Given the description of an element on the screen output the (x, y) to click on. 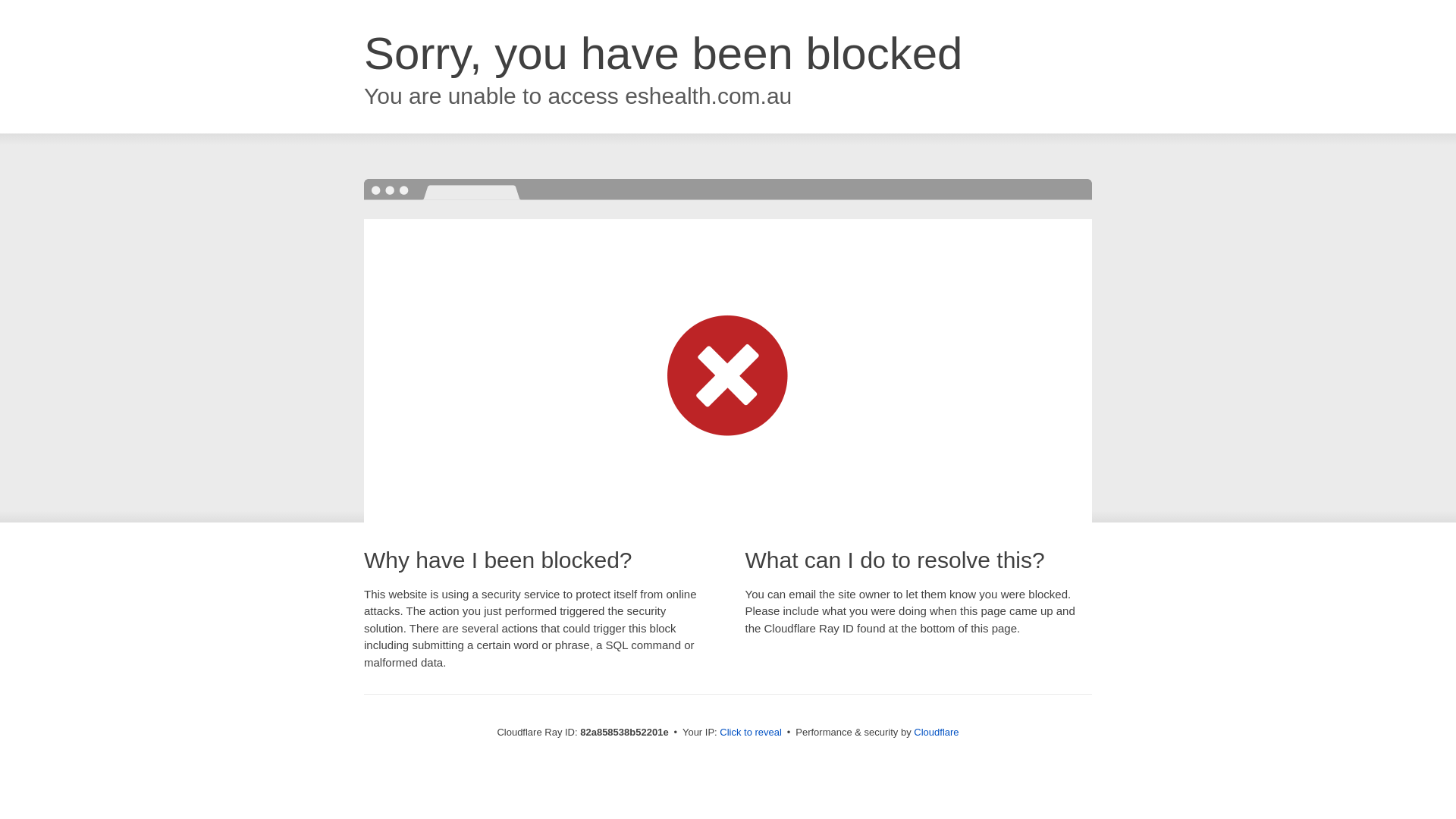
Cloudflare Element type: text (935, 731)
Click to reveal Element type: text (750, 732)
